Given the description of an element on the screen output the (x, y) to click on. 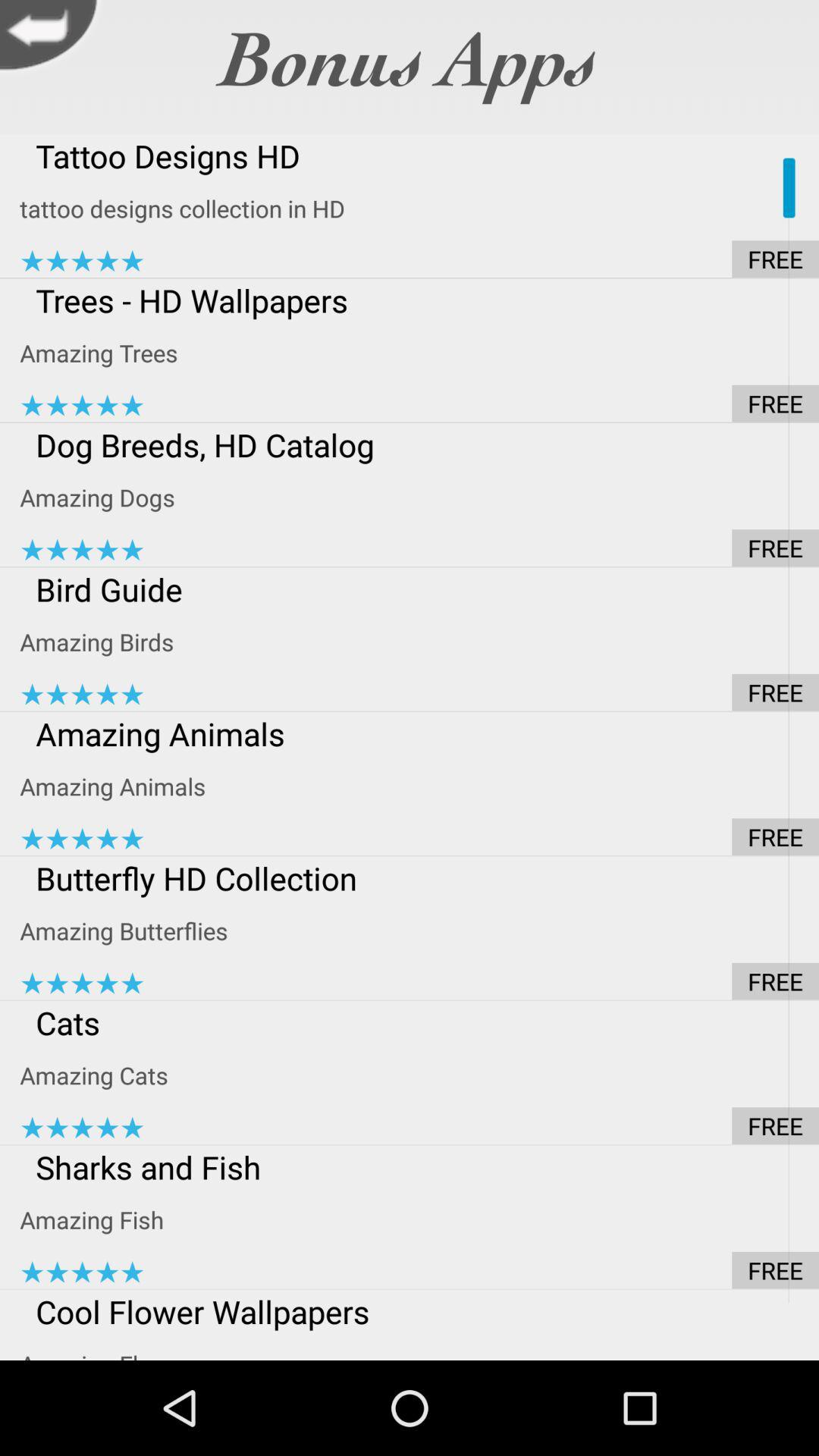
click the icon below   trees - hd wallpapers  icon (419, 352)
